Given the description of an element on the screen output the (x, y) to click on. 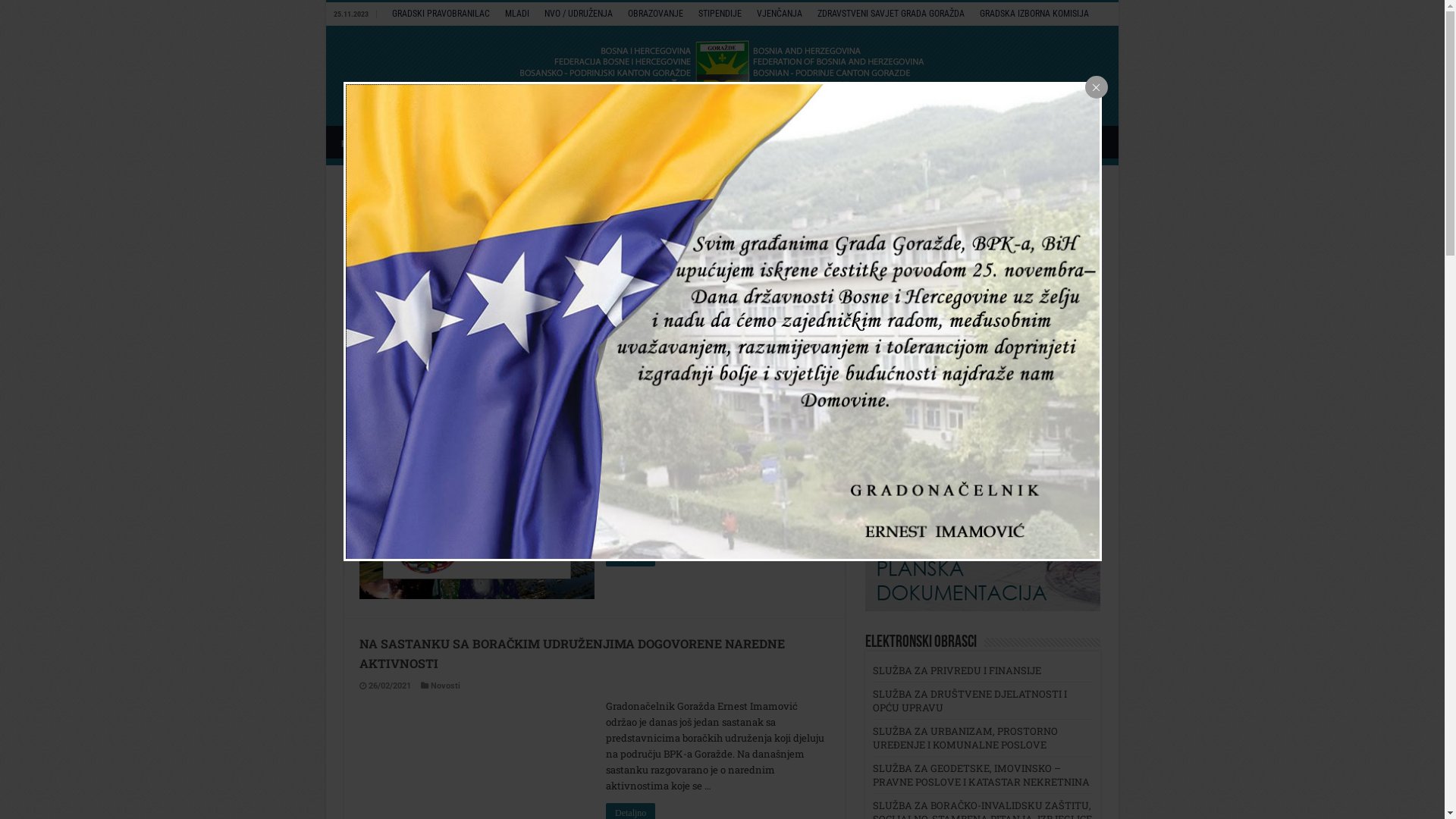
JAVNI POZIVI Element type: text (904, 271)
OGLASI Element type: text (890, 247)
MLADI Element type: text (516, 13)
Novosti Element type: text (445, 256)
GRADSKI PRAVOBRANILAC Element type: text (440, 13)
O GRADU Element type: text (416, 141)
KONKURSI Element type: text (898, 224)
JAVNA PRIZNANJA Element type: text (993, 141)
KONTAKT Element type: text (1068, 141)
Novosti Element type: text (445, 461)
OBRAZOVANJE Element type: text (655, 13)
STIPENDIJE Element type: text (719, 13)
GRADSKA IZBORNA KOMISIJA Element type: text (1034, 13)
JAVNE NABAVKE I TENDERI Element type: text (882, 141)
MJESNE ZAJEDNICE Element type: text (770, 141)
Detaljno Element type: text (630, 367)
Detaljno Element type: text (630, 556)
Novosti Element type: text (445, 685)
